Given the description of an element on the screen output the (x, y) to click on. 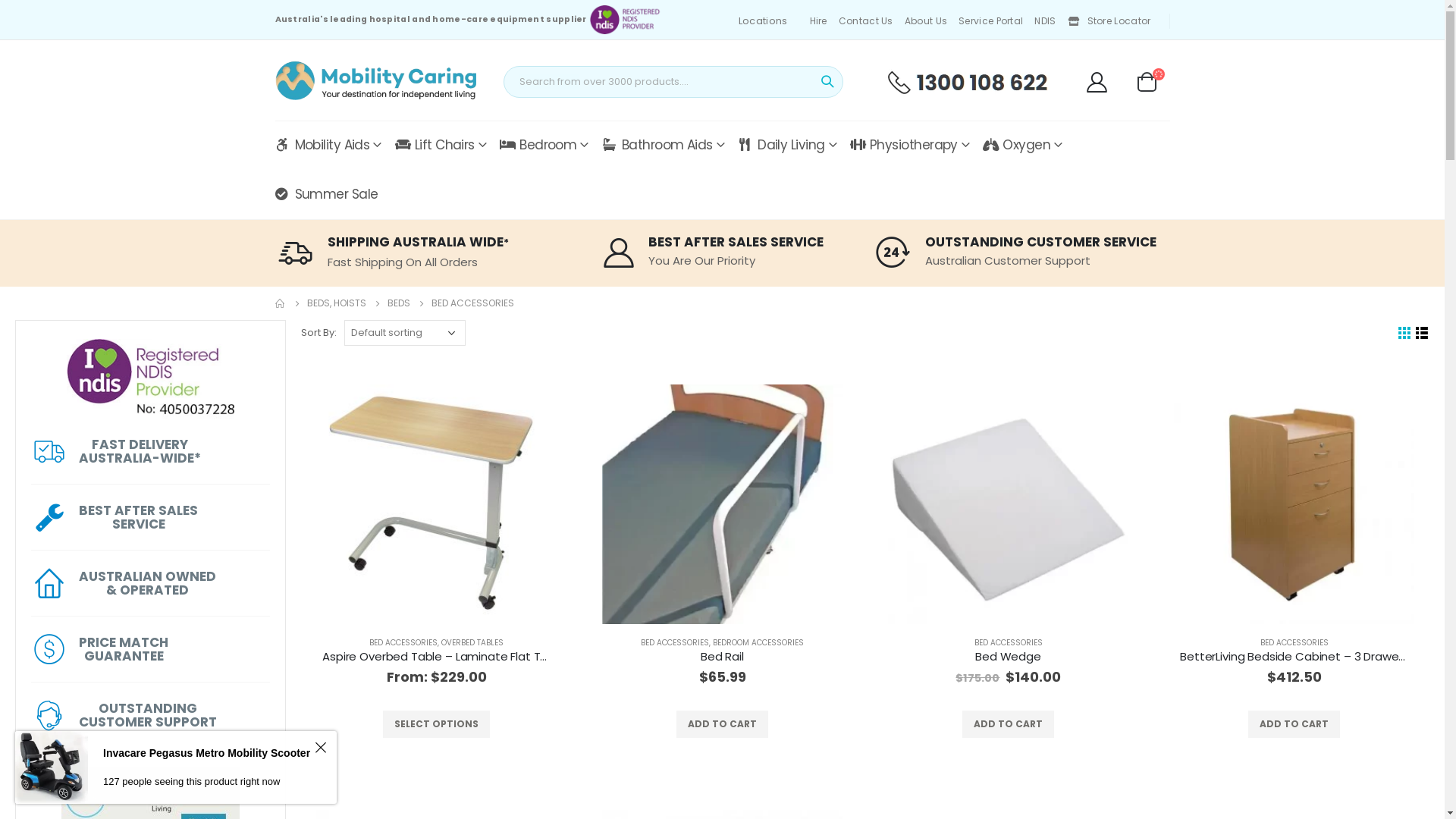
Oxygen Element type: text (1021, 144)
BED ACCESSORIES Element type: text (403, 642)
1300 108 622 Element type: hover (966, 81)
Daily Living Element type: text (786, 144)
Physiotherapy Element type: text (909, 144)
Bed Wedge Element type: hover (1008, 504)
ADD TO CART Element type: text (1294, 723)
Bed Rail Element type: text (722, 656)
OVERBED TABLES Element type: text (472, 642)
Contact Us Element type: text (867, 21)
Summer Sale Element type: text (325, 194)
Mobility Caring -  Element type: hover (374, 80)
Lift Chairs Element type: text (440, 144)
Store Locator Element type: text (1110, 21)
ADD TO CART Element type: text (722, 723)
Locations Element type: text (764, 21)
Bed Wedge Element type: text (1008, 656)
List View Element type: hover (1422, 333)
Search Element type: hover (827, 81)
Go to Home Page Element type: hover (279, 303)
Hire Element type: text (820, 21)
BEDROOM ACCESSORIES Element type: text (757, 642)
BED ACCESSORIES Element type: text (1294, 642)
Basic Sling Element type: hover (722, 504)
NDIS Element type: text (1046, 21)
Aspire Overbed Table - Laminate Flat Top - Beech Element type: hover (436, 504)
BED ACCESSORIES Element type: text (1007, 642)
Bedroom Element type: text (543, 144)
Bathroom Aids Element type: text (663, 144)
Grid View Element type: hover (1404, 333)
Service Portal Element type: text (992, 21)
SELECT OPTIONS Element type: text (436, 723)
Bedside Crash Mat Element type: hover (1293, 504)
ADD TO CART Element type: text (1008, 723)
About Us Element type: text (927, 21)
My Account Element type: hover (1096, 82)
BEDS Element type: text (397, 303)
BEDS, HOISTS Element type: text (335, 303)
Mobility Aids Element type: text (327, 144)
BED ACCESSORIES Element type: text (674, 642)
